Given the description of an element on the screen output the (x, y) to click on. 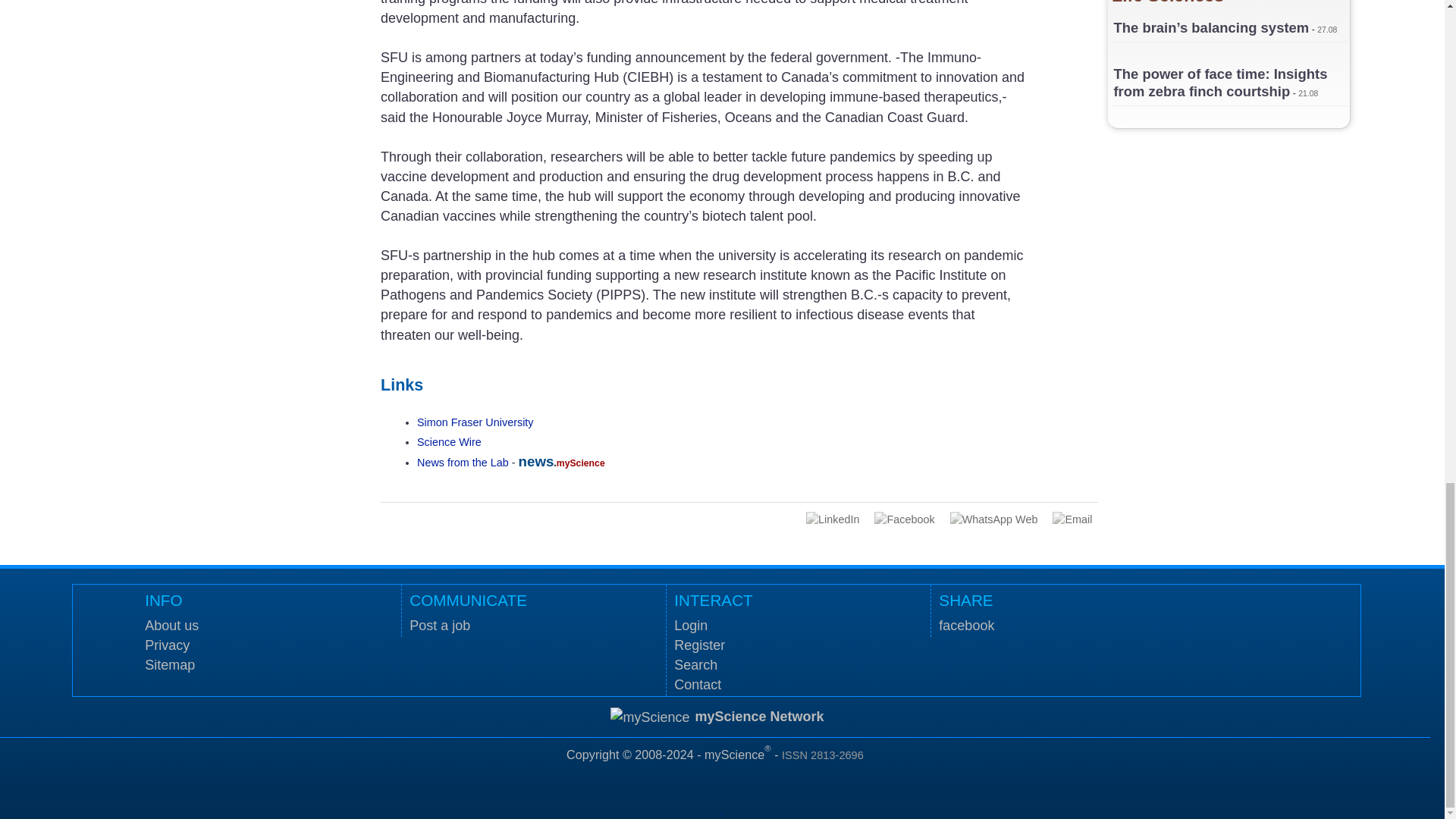
All news and press releases (448, 441)
News (462, 462)
Share on LinkedIn (832, 519)
